Given the description of an element on the screen output the (x, y) to click on. 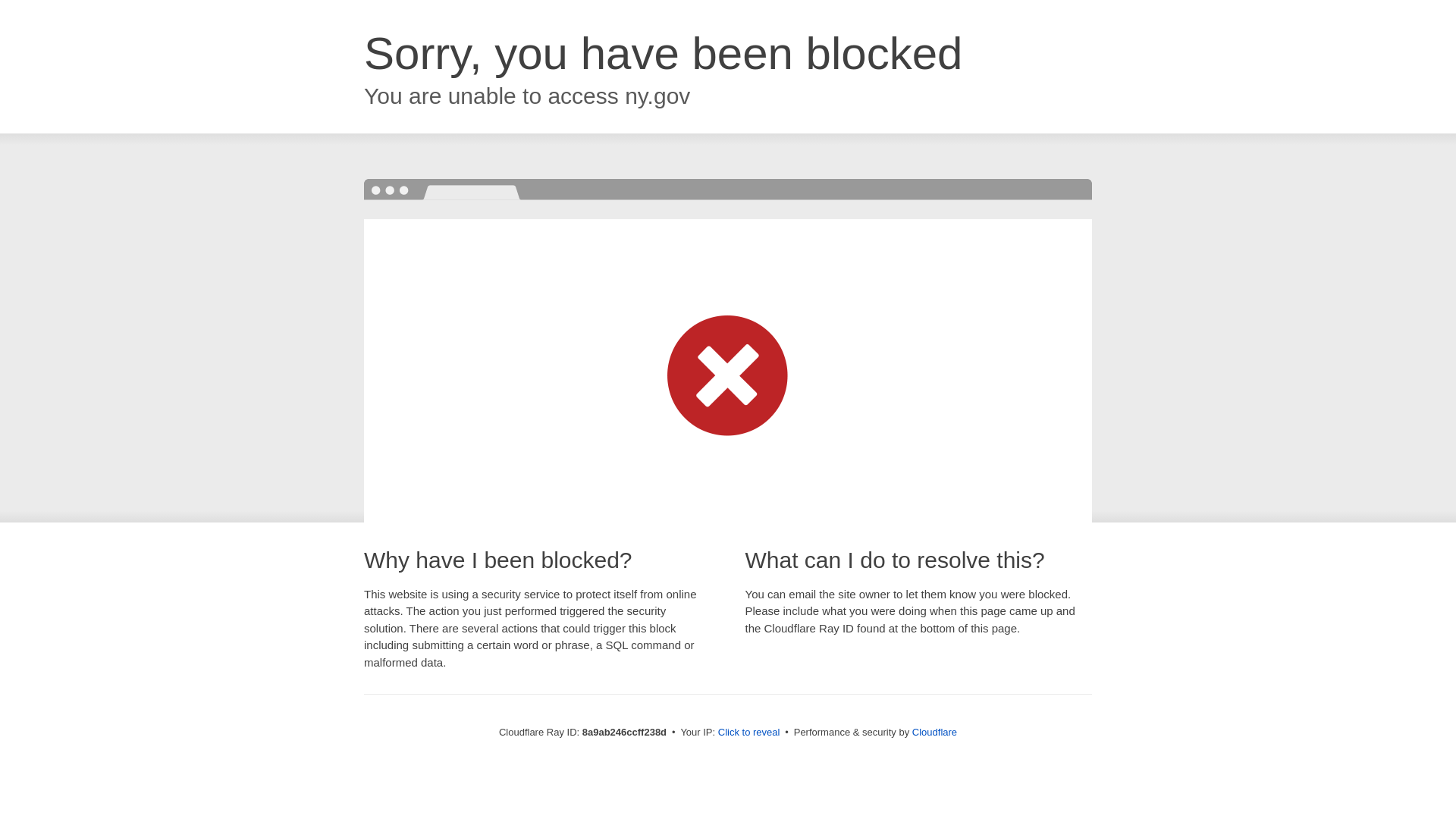
Cloudflare (934, 731)
Click to reveal (748, 732)
